Given the description of an element on the screen output the (x, y) to click on. 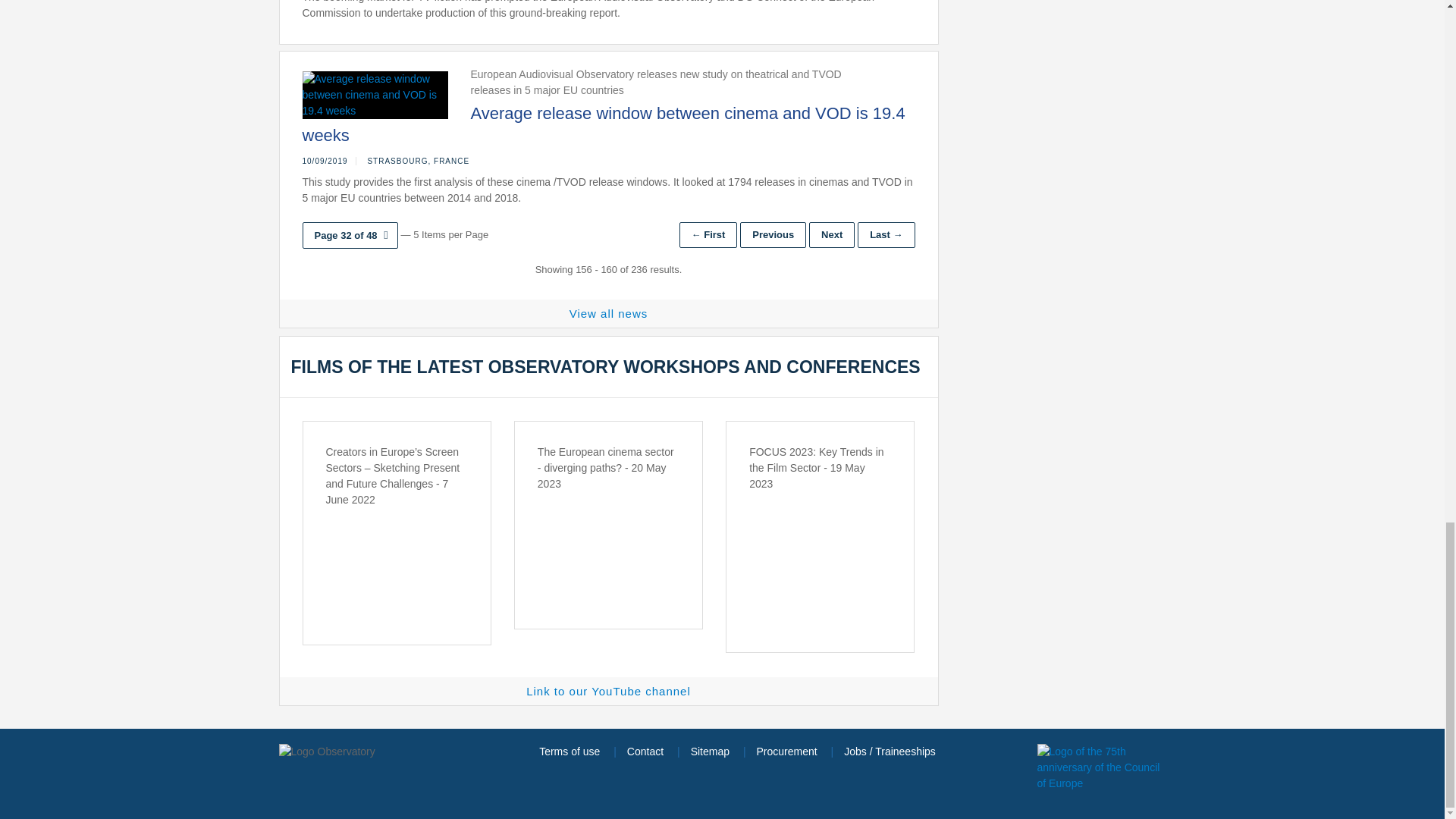
YouTube video player (608, 546)
Page 32 of 48 (349, 234)
YouTube video player (820, 546)
